Given the description of an element on the screen output the (x, y) to click on. 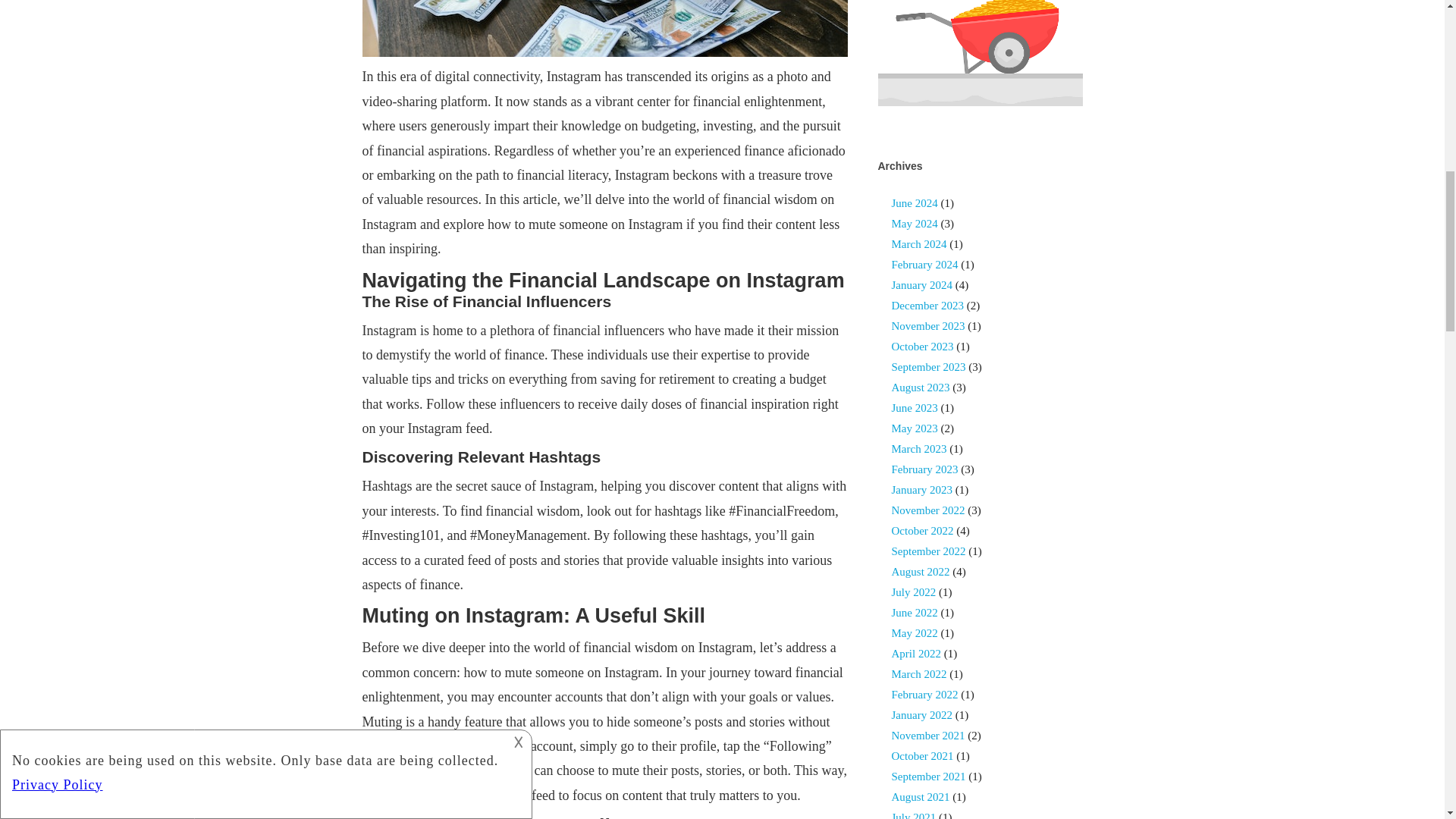
March 2024 (919, 244)
June 2023 (914, 408)
January 2024 (921, 285)
November 2023 (928, 326)
February 2024 (924, 264)
September 2023 (928, 367)
December 2023 (927, 305)
June 2024 (914, 203)
August 2023 (920, 387)
October 2023 (922, 346)
